Given the description of an element on the screen output the (x, y) to click on. 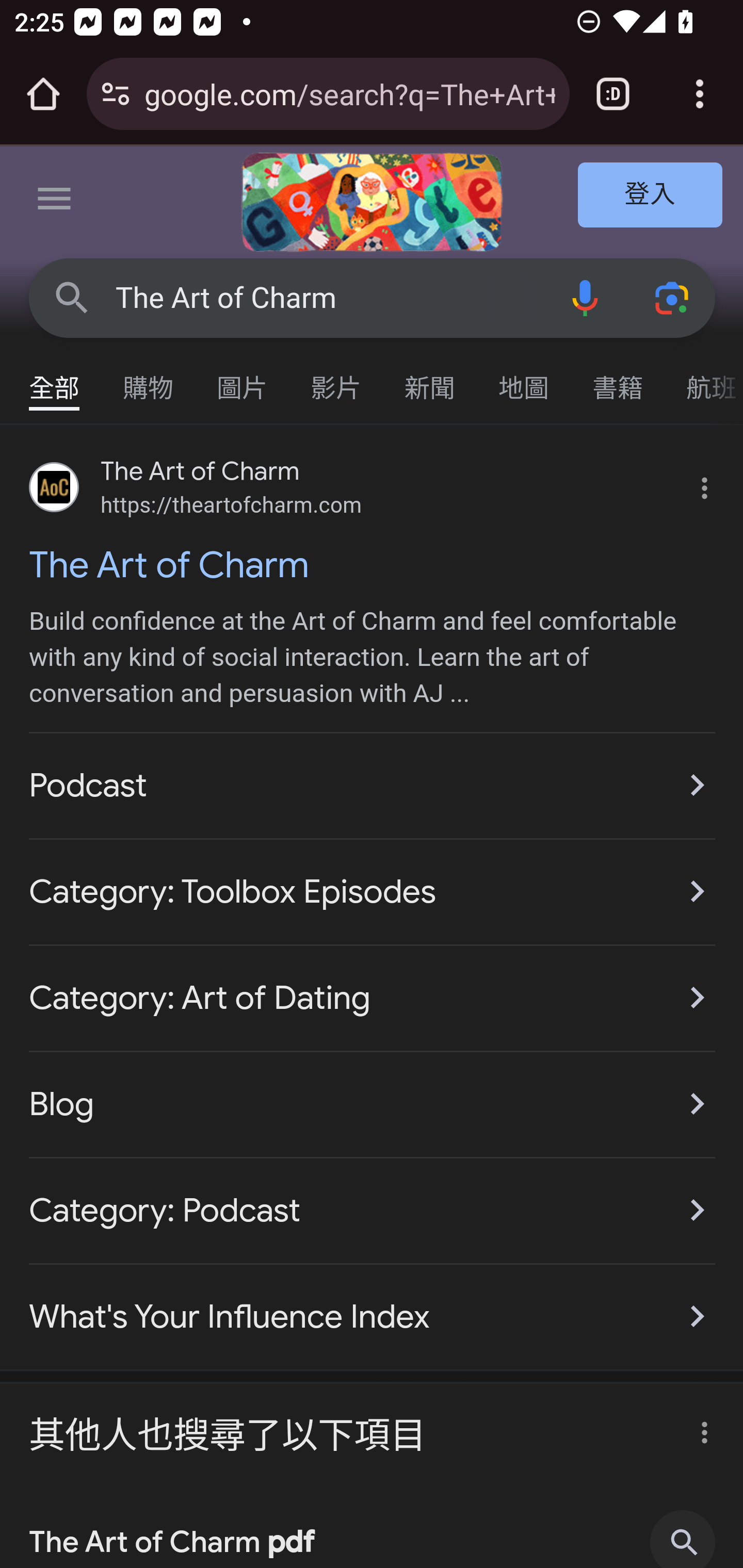
Open the home page (43, 93)
Connection is secure (115, 93)
Switch or close tabs (612, 93)
Customize and control Google Chrome (699, 93)
2024 年國際婦女節 (371, 202)
主選單 (54, 202)
登入 (650, 195)
Google 搜尋 (71, 296)
使用相機或相片搜尋 (672, 296)
The Art of Charm (328, 297)
購物 (148, 378)
圖片 (242, 378)
影片 (336, 378)
新聞 (430, 378)
地圖 (524, 378)
書籍 (618, 378)
航班 (703, 378)
The Art of Charm (372, 564)
Podcast (372, 785)
Category: Toolbox Episodes (372, 891)
Category: Art of Dating (372, 997)
Blog (372, 1103)
Category: Podcast (372, 1210)
What's Your Influence Index (372, 1305)
關於此結果 (698, 1426)
The Art of Charm pdf The Art of Charm  pdf (372, 1528)
